Given the description of an element on the screen output the (x, y) to click on. 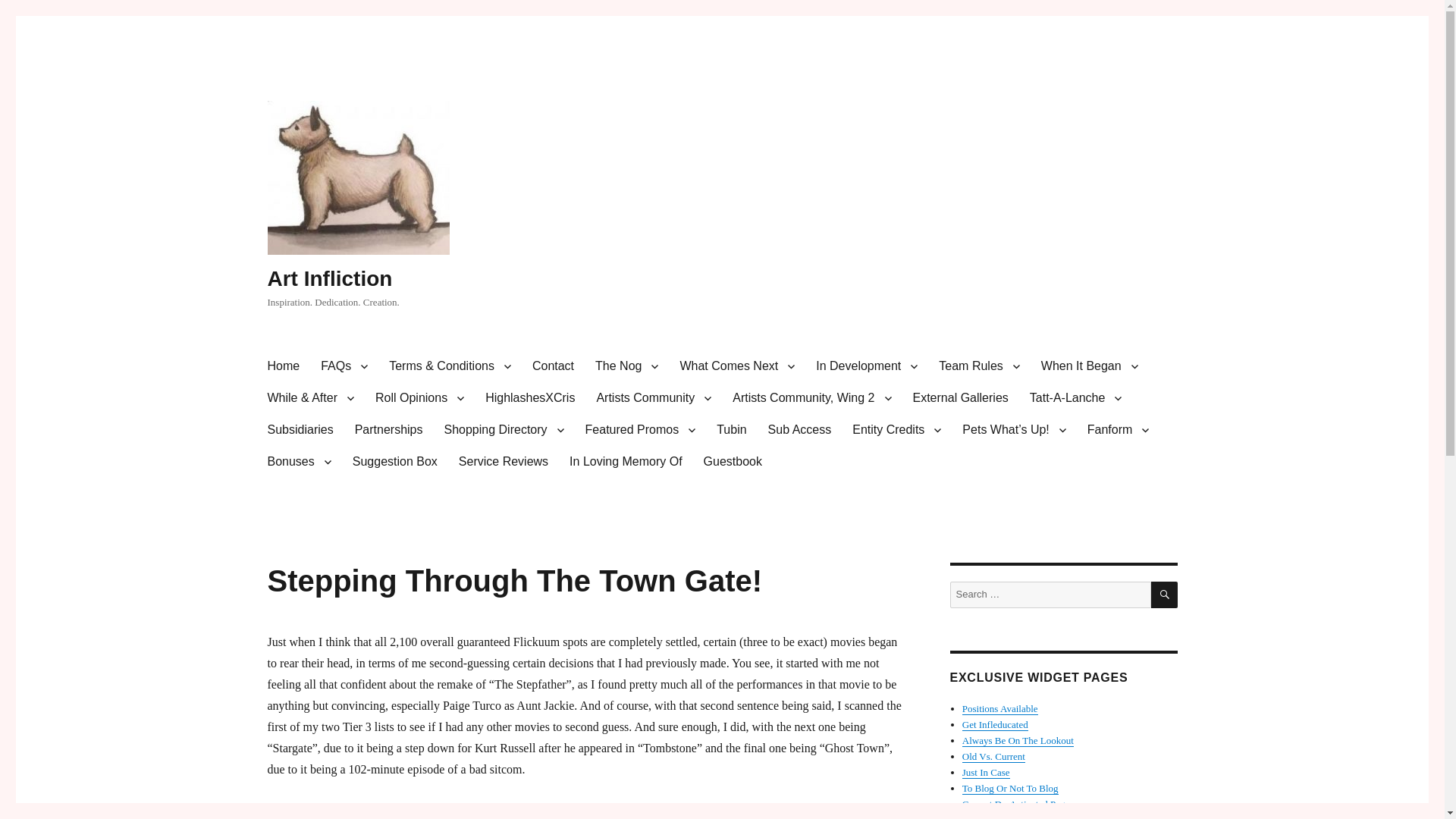
Art Infliction (328, 278)
FAQs (344, 366)
Home (283, 366)
In Development (866, 366)
What Comes Next (736, 366)
When It Began (1089, 366)
Contact (553, 366)
The Nog (626, 366)
Team Rules (978, 366)
